Given the description of an element on the screen output the (x, y) to click on. 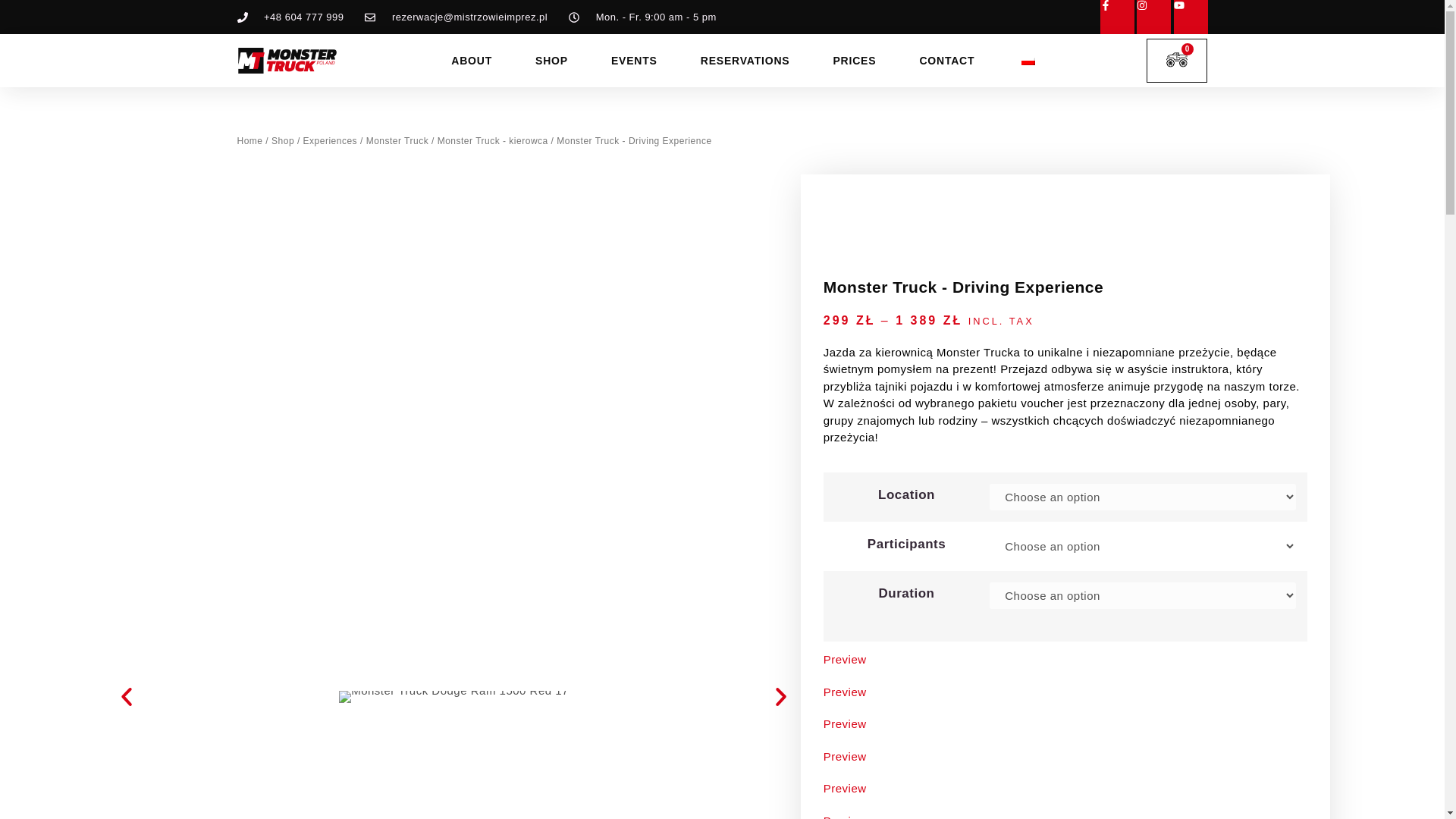
Monster Truck (397, 140)
0 (1177, 60)
Home (248, 140)
Preview (1065, 692)
Preview (1065, 660)
Preview (1065, 816)
Monster Truck - kierowca (493, 140)
Shop (282, 140)
Mon. - Fr. 9:00 am - 5 pm (642, 17)
Preview (1065, 724)
